Given the description of an element on the screen output the (x, y) to click on. 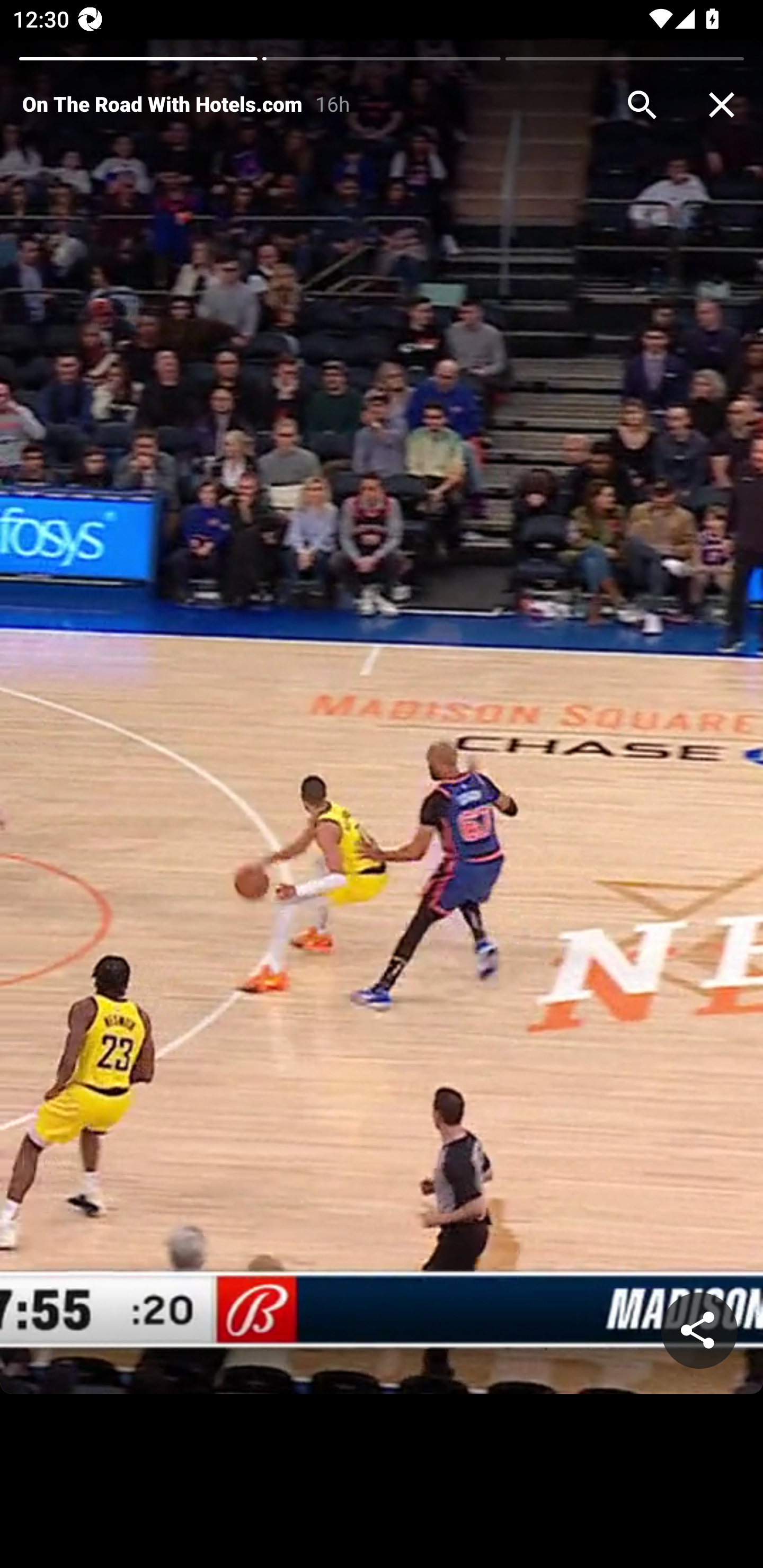
search (642, 104)
close (721, 104)
share (699, 1330)
